Given the description of an element on the screen output the (x, y) to click on. 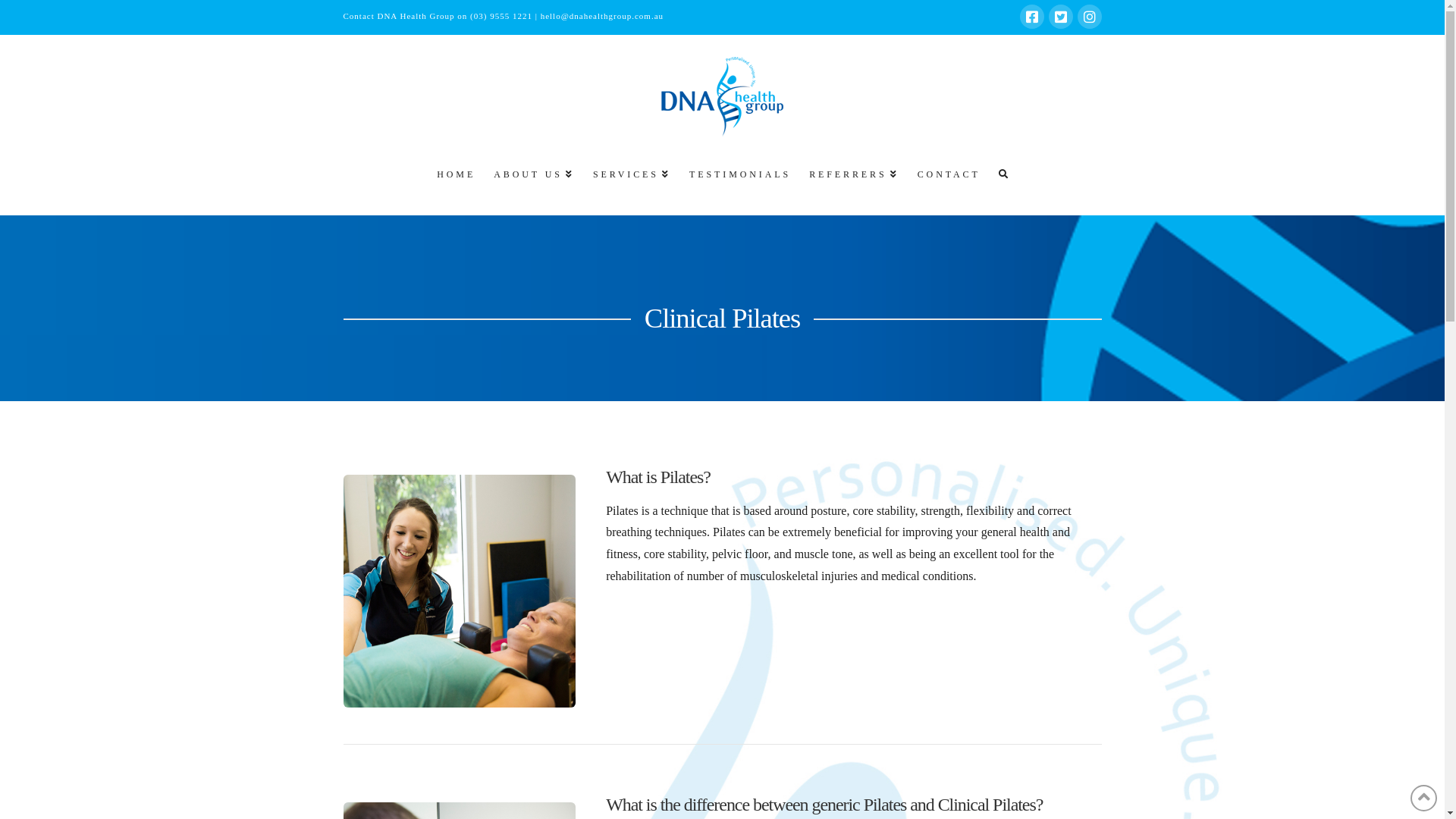
Back to Top Element type: hover (1423, 797)
REFERRERS Element type: text (852, 181)
TESTIMONIALS Element type: text (738, 181)
Instagram Element type: hover (1088, 16)
hello@dnahealthgroup.com.au Element type: text (601, 15)
CONTACT Element type: text (947, 181)
Twitter Element type: hover (1060, 16)
ABOUT US Element type: text (532, 181)
Facebook Element type: hover (1031, 16)
SERVICES Element type: text (630, 181)
HOME Element type: text (454, 181)
